Given the description of an element on the screen output the (x, y) to click on. 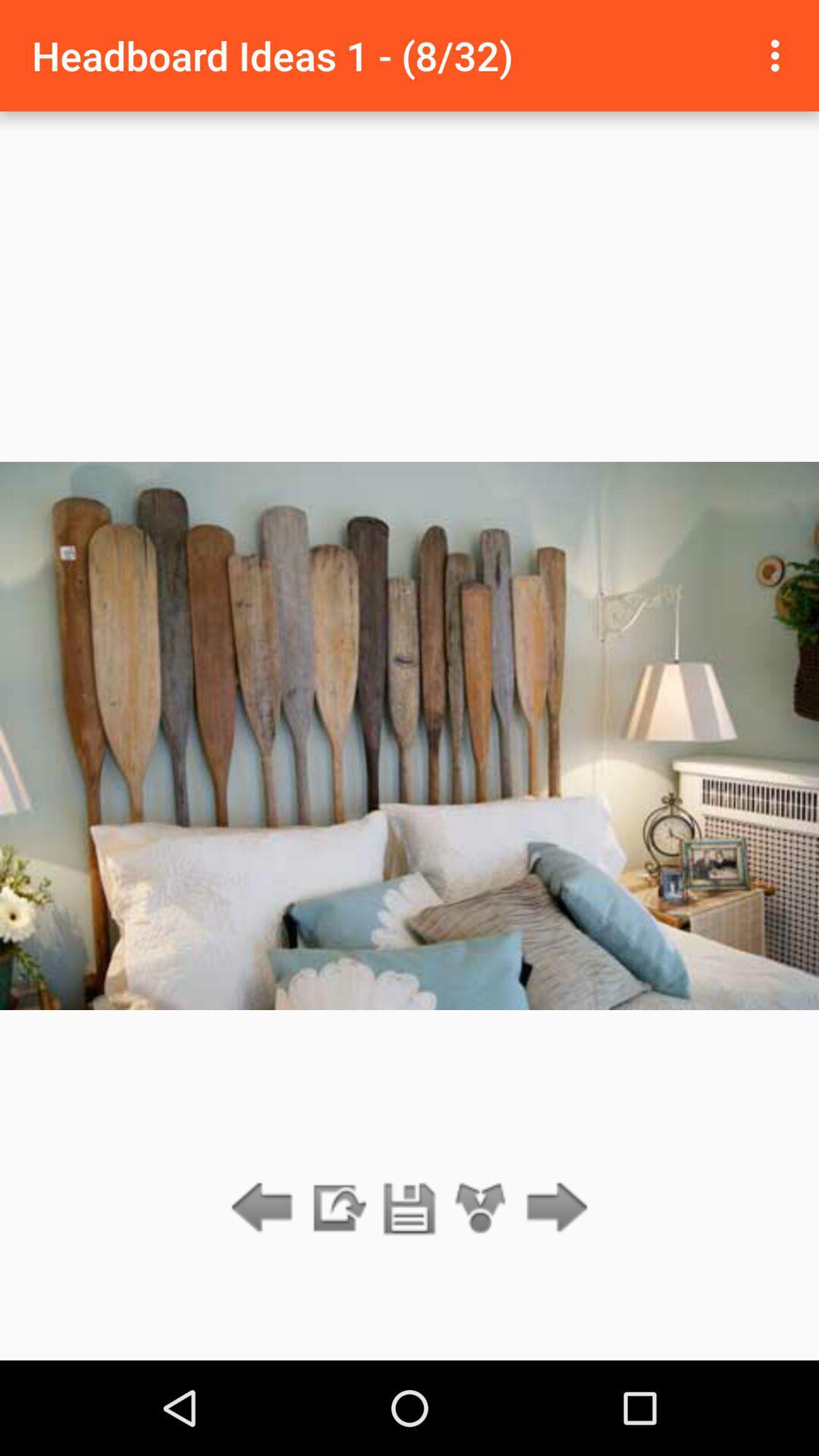
share with others (480, 1208)
